Given the description of an element on the screen output the (x, y) to click on. 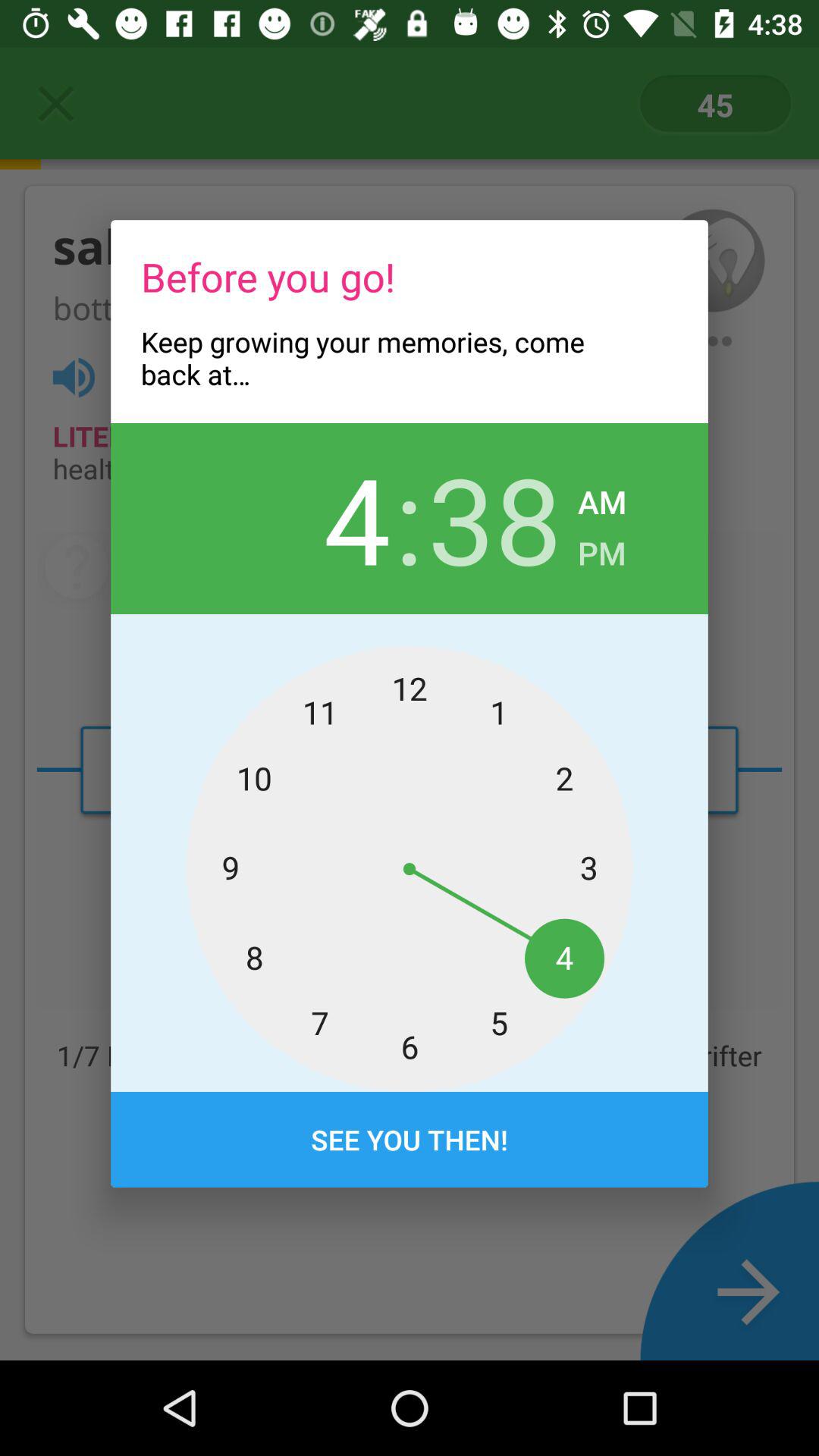
swipe until see you then! (409, 1139)
